Given the description of an element on the screen output the (x, y) to click on. 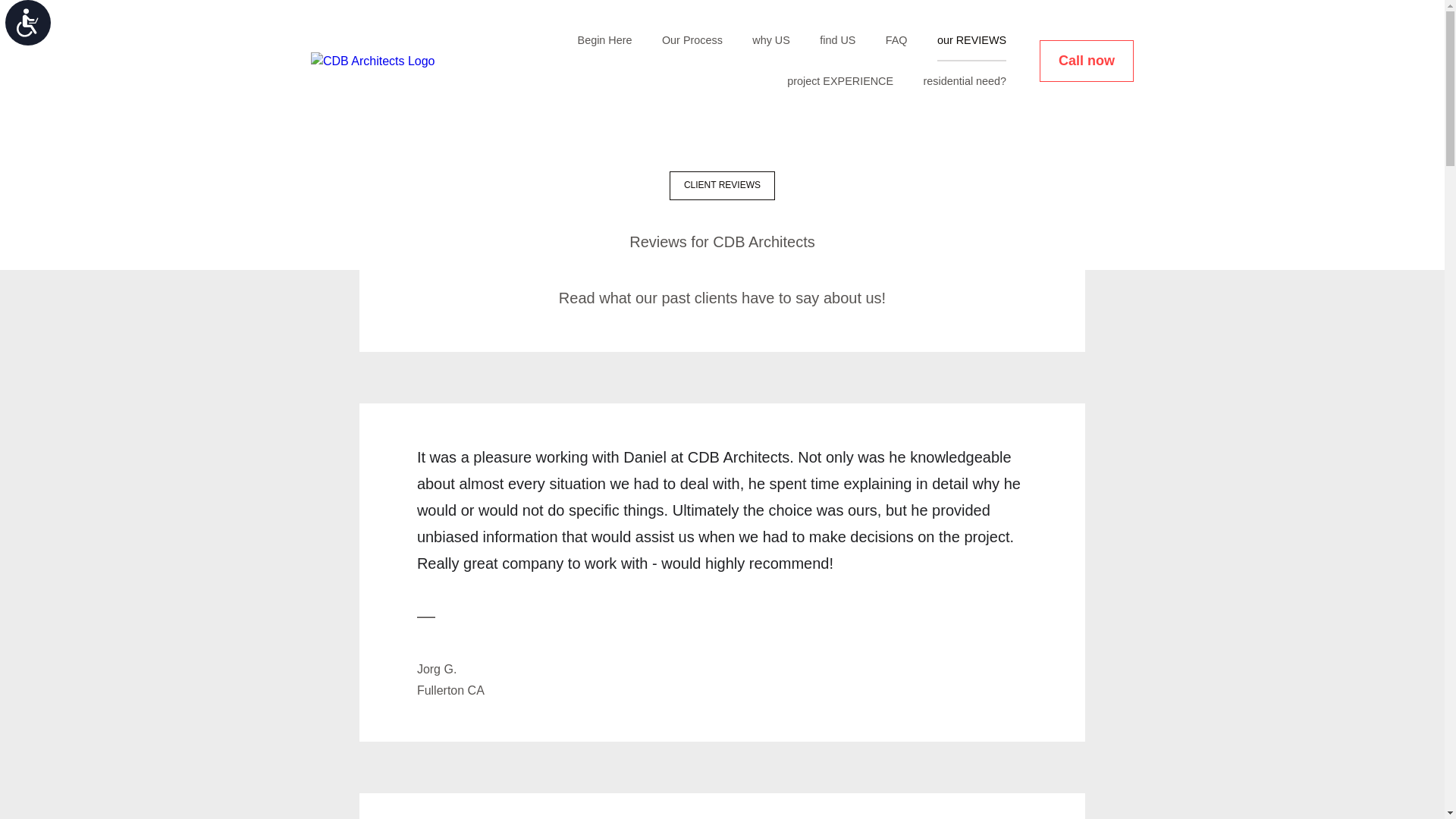
Begin Here (604, 40)
CLIENT REVIEWS (721, 185)
why US (771, 40)
Accessibility (35, 30)
Our Process (692, 40)
project EXPERIENCE (840, 82)
residential need? (964, 82)
Call now (1086, 60)
our REVIEWS (971, 40)
